Given the description of an element on the screen output the (x, y) to click on. 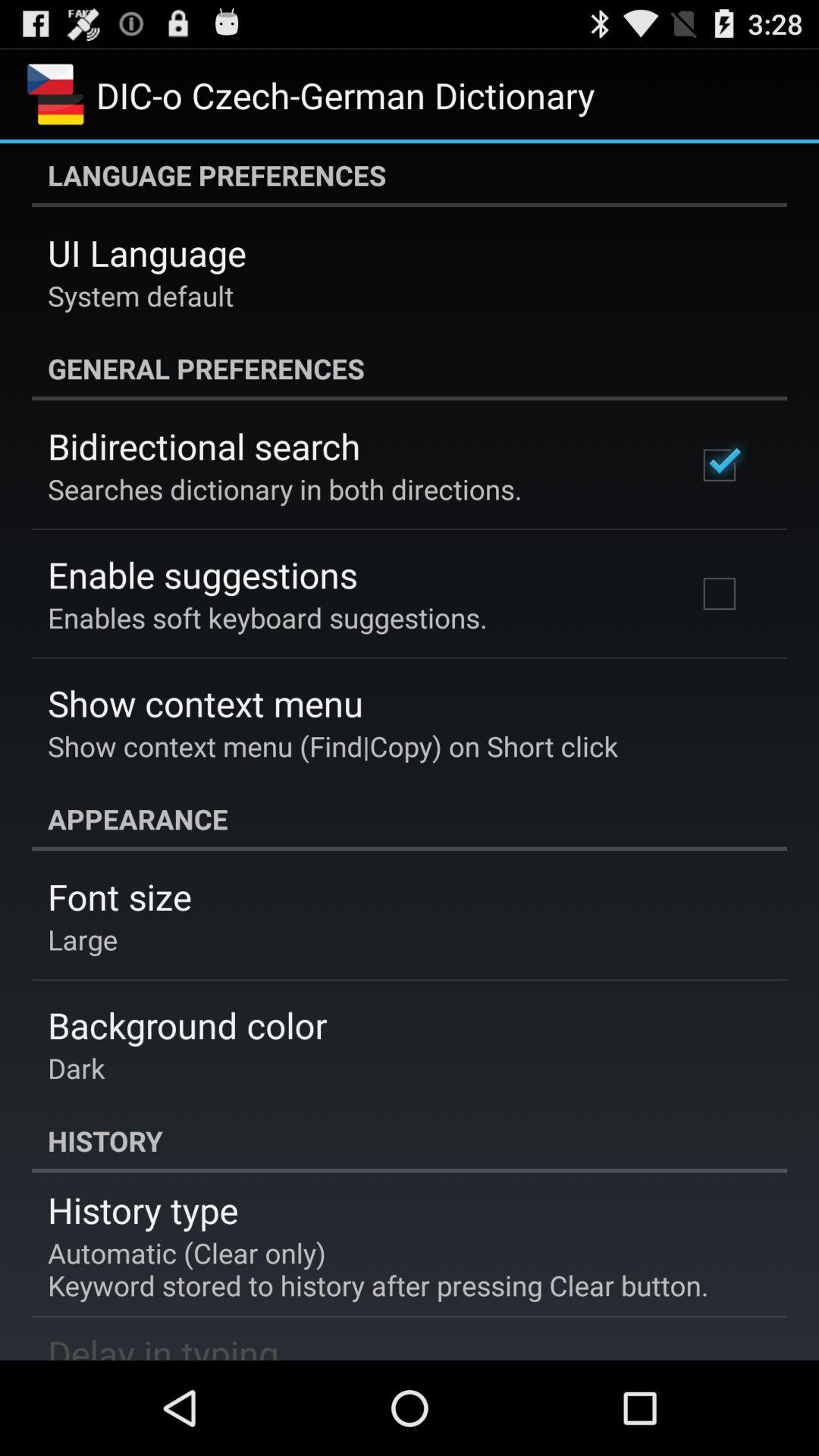
turn off item below history icon (142, 1209)
